Given the description of an element on the screen output the (x, y) to click on. 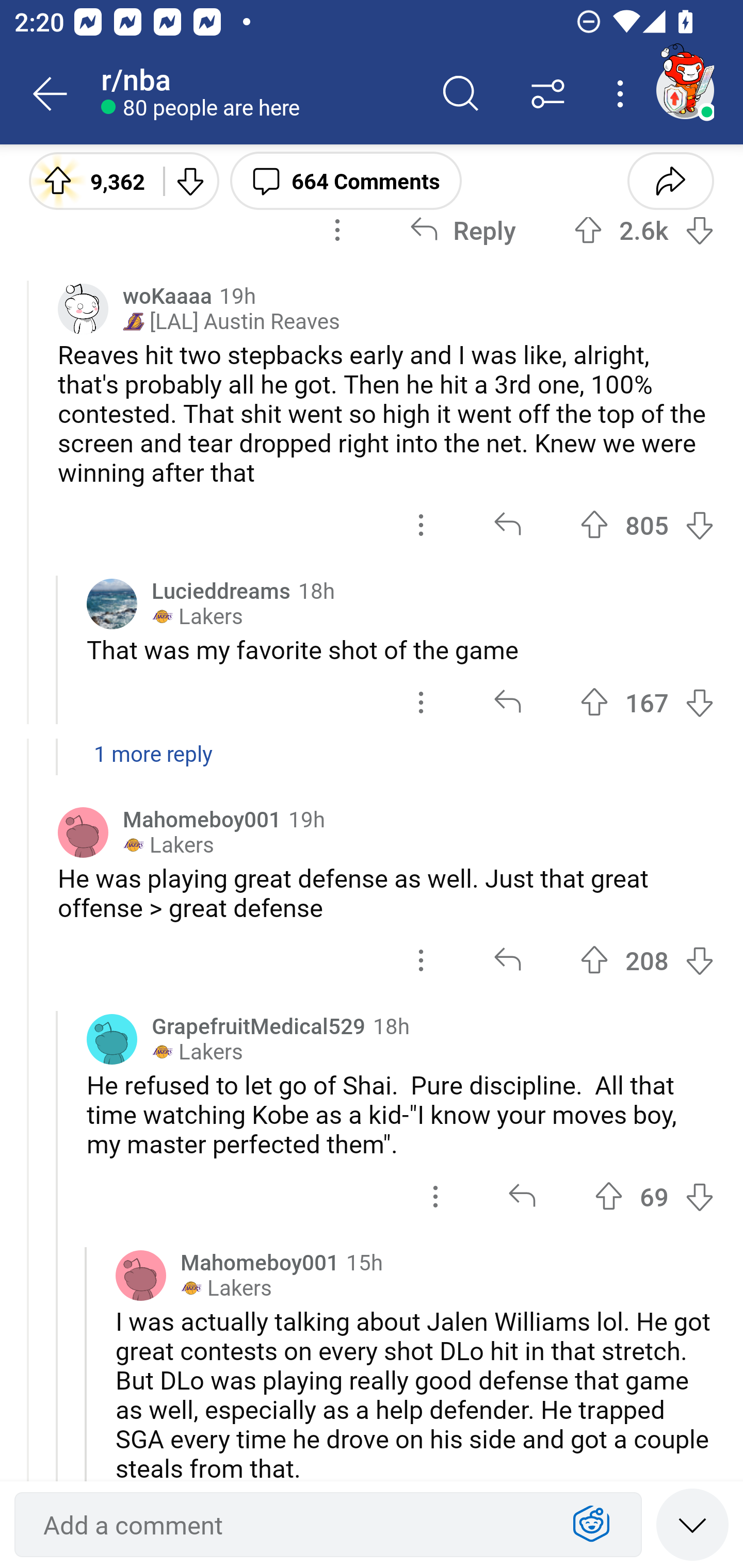
Back (50, 93)
TestAppium002 account (685, 90)
Search comments (460, 93)
Sort comments (547, 93)
More options (623, 93)
r/nba 80 people are here (259, 93)
Upvote 9,362 (88, 180)
Downvote (189, 180)
664 Comments (346, 180)
Share (670, 180)
options (337, 230)
Reply (462, 230)
Upvote 2.6k 2617 votes Downvote (643, 230)
Upvote (587, 230)
Downvote (699, 230)
19h (237, 295)
Custom avatar (82, 308)
￼ [LAL] Austin Reaves (231, 320)
options (420, 525)
Upvote 805 805 votes Downvote (647, 525)
Upvote (594, 525)
Downvote (699, 525)
18h (316, 590)
Avatar (111, 603)
￼ Lakers (196, 615)
That was my favorite shot of the game (400, 648)
options (420, 702)
Upvote 167 167 votes Downvote (647, 702)
Upvote (594, 702)
Downvote (699, 702)
1 more reply (371, 764)
19h (306, 819)
Avatar (82, 832)
￼ Lakers (167, 844)
options (420, 960)
Upvote 208 208 votes Downvote (647, 960)
Upvote (594, 960)
Downvote (699, 960)
18h (390, 1025)
Avatar (111, 1039)
￼ Lakers (196, 1051)
options (435, 1196)
Upvote 69 69 votes Downvote (654, 1196)
Upvote (608, 1196)
Downvote (699, 1196)
15h (364, 1261)
Avatar (140, 1275)
￼ Lakers (225, 1287)
Speed read (692, 1524)
Add a comment (291, 1524)
Show Expressions (590, 1524)
